Given the description of an element on the screen output the (x, y) to click on. 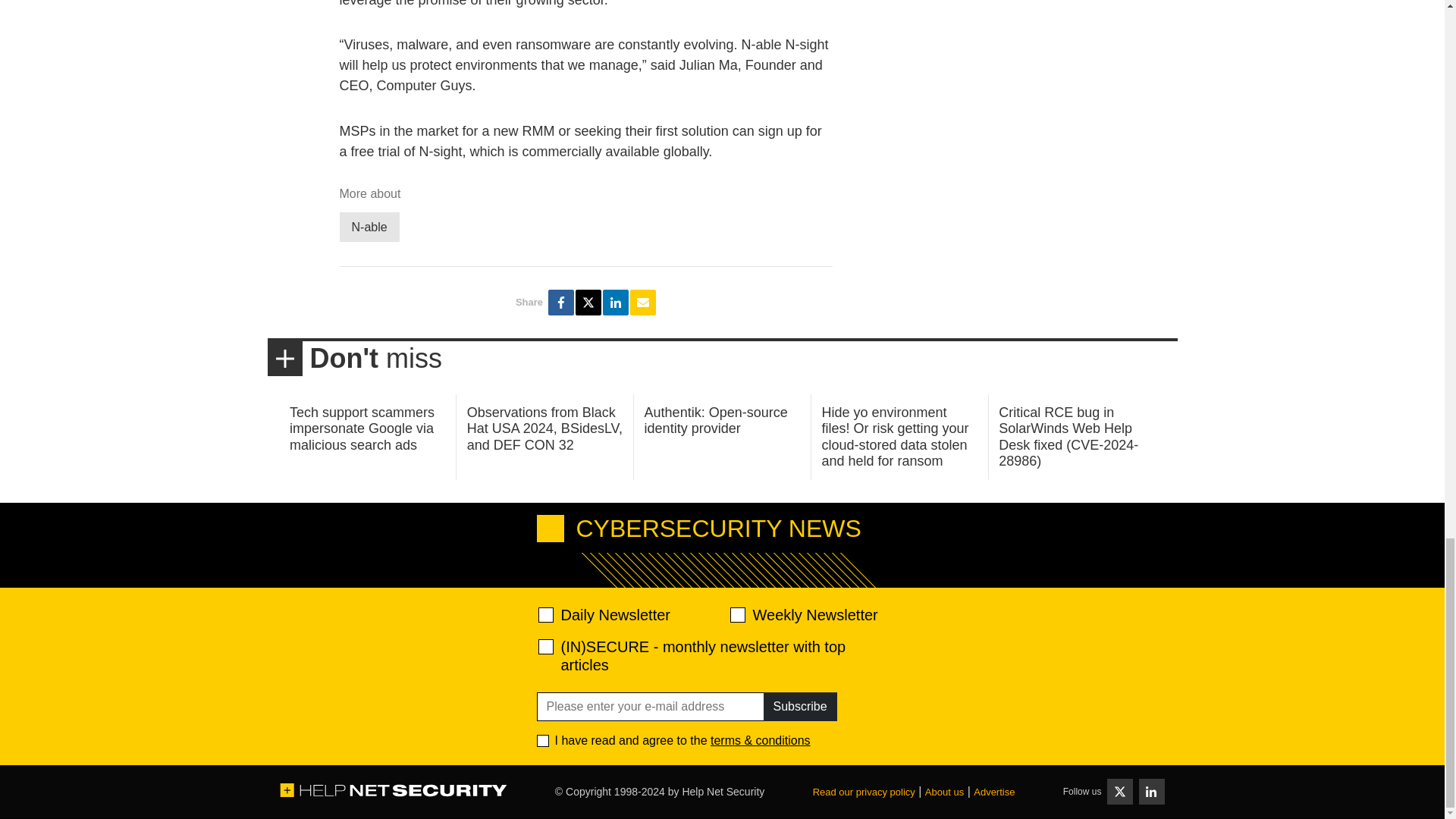
520ac2f639 (545, 614)
28abe5d9ef (545, 646)
1 (542, 740)
N-able (368, 226)
d2d471aafa (736, 614)
